Given the description of an element on the screen output the (x, y) to click on. 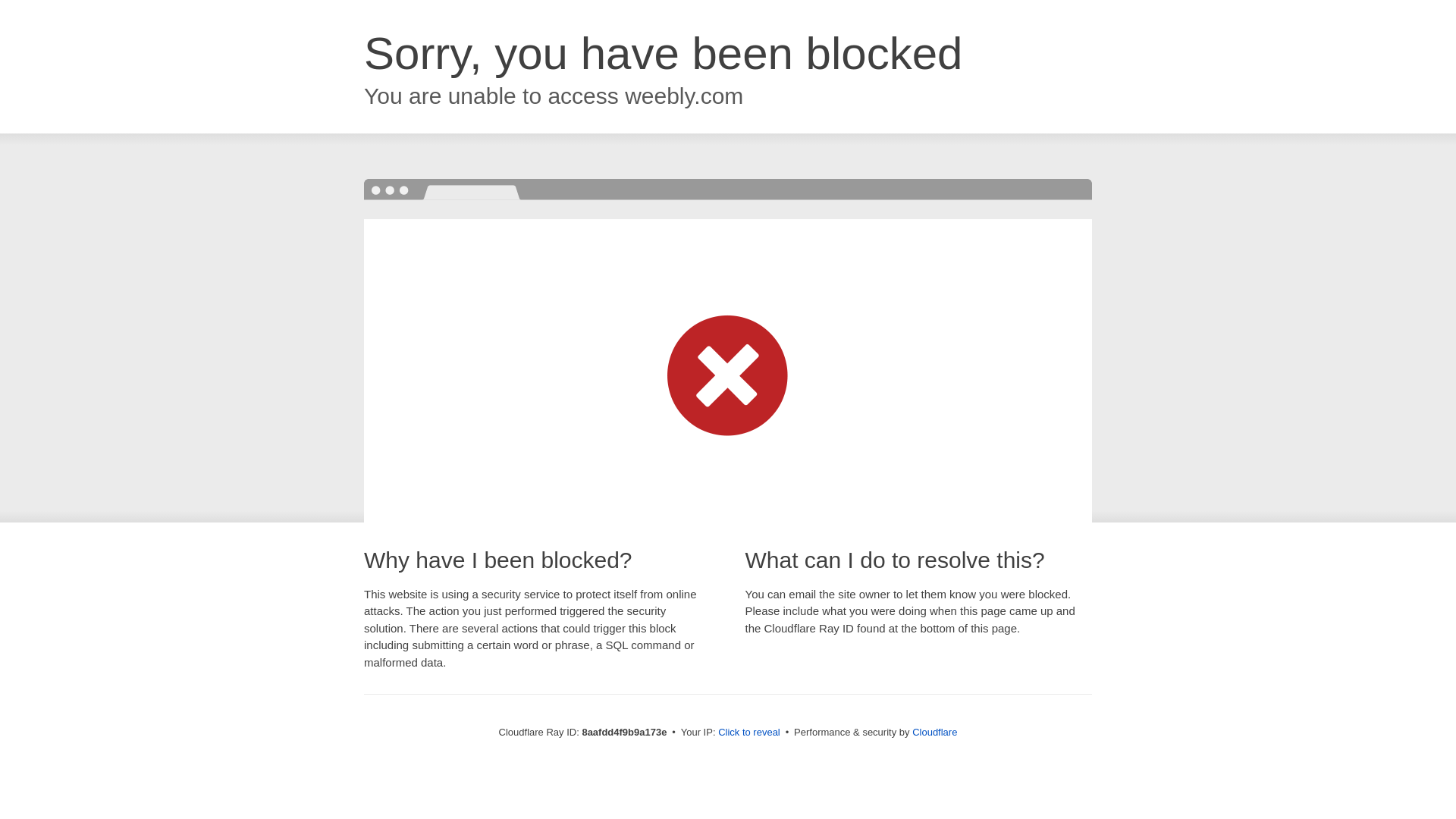
Cloudflare (934, 731)
Click to reveal (748, 732)
